Given the description of an element on the screen output the (x, y) to click on. 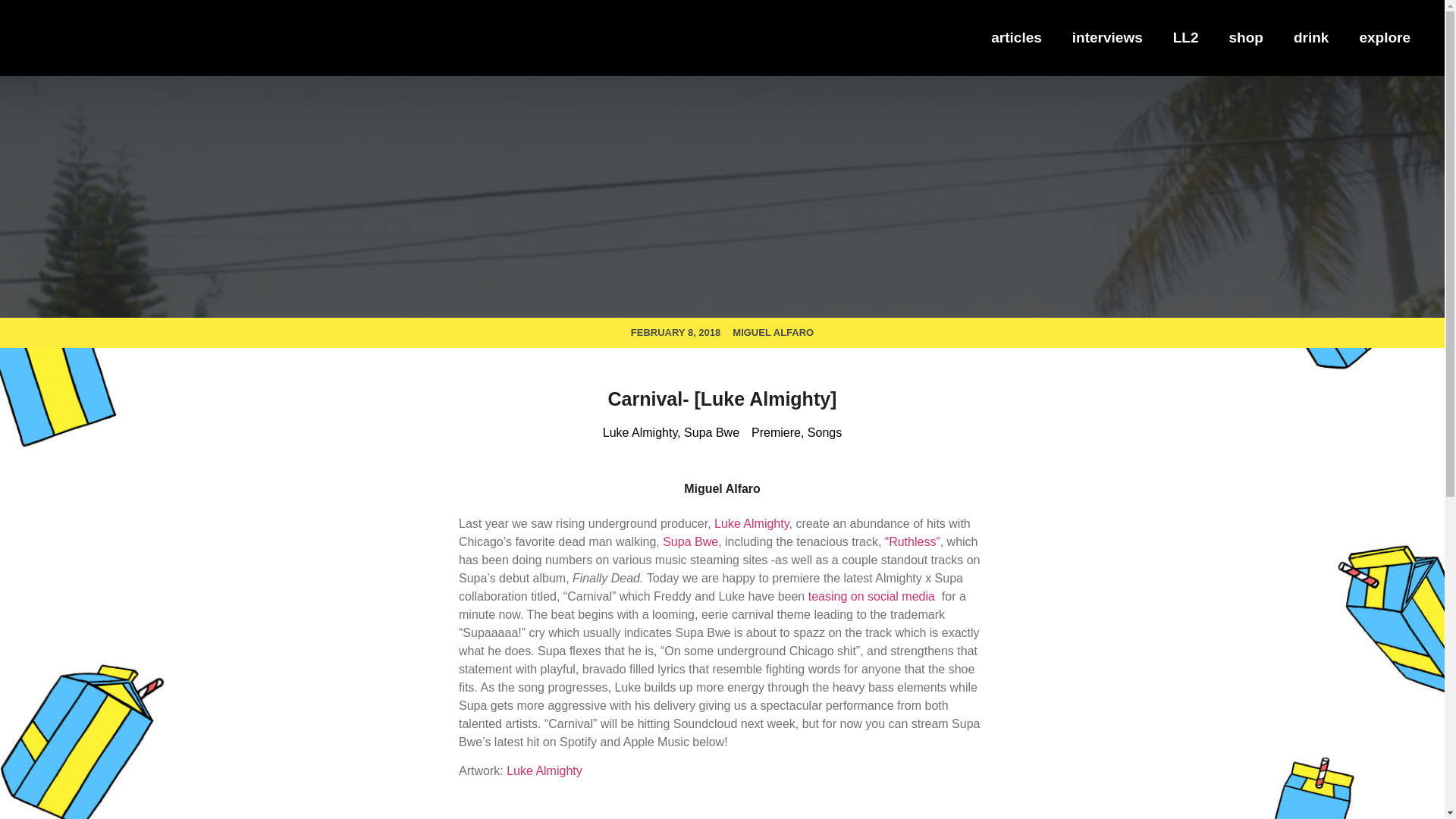
explore (1384, 37)
shop (1246, 37)
LL2 (1185, 37)
Songs (824, 431)
Supa Bwe (689, 541)
drink (1310, 37)
Supa Bwe (711, 431)
teasing on social media  (873, 595)
articles (1016, 37)
interviews (1107, 37)
